Given the description of an element on the screen output the (x, y) to click on. 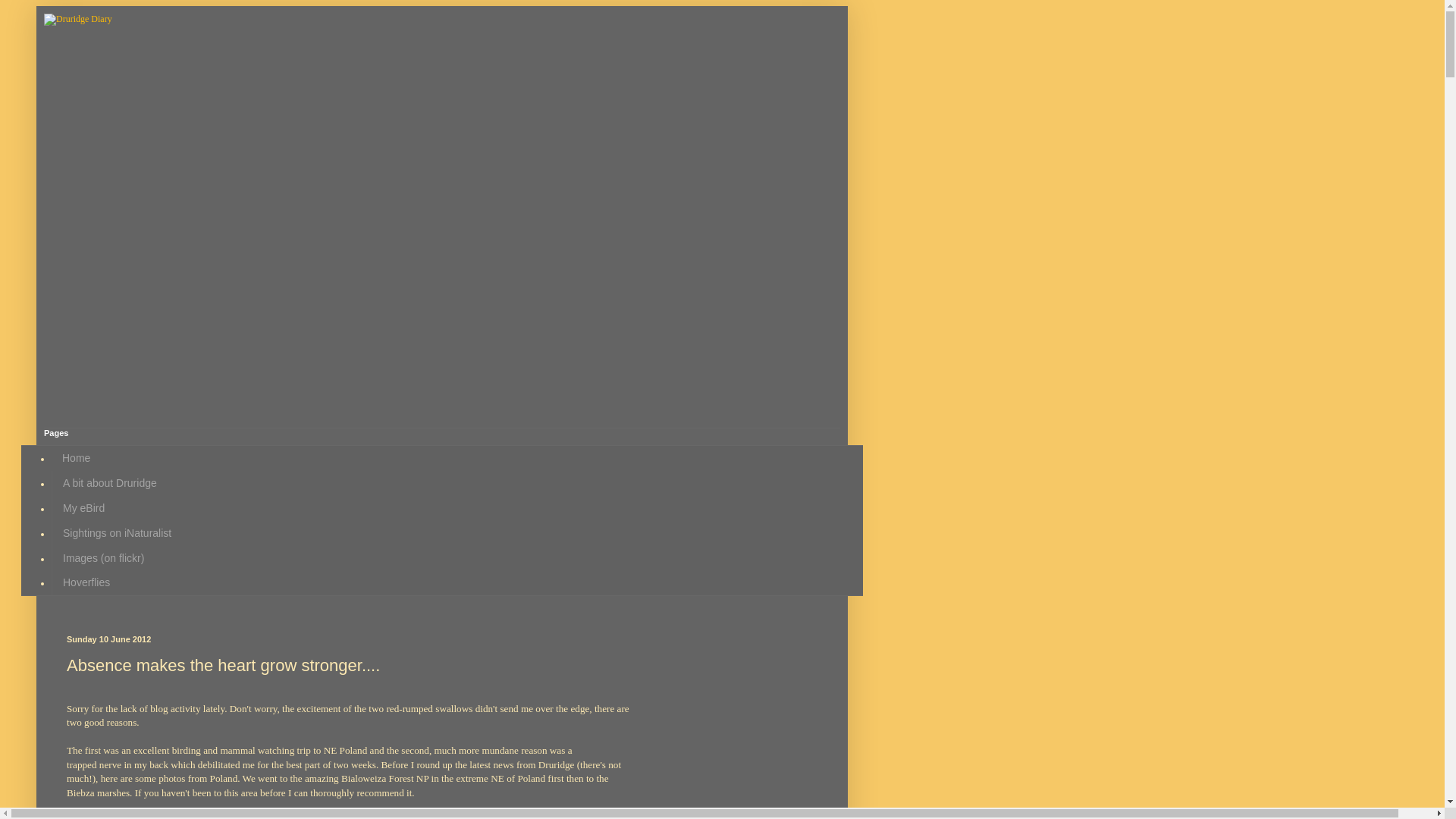
Sightings on iNaturalist (116, 532)
Hoverflies (85, 582)
Home (75, 457)
A bit about Druridge (108, 483)
My eBird (82, 508)
